Given the description of an element on the screen output the (x, y) to click on. 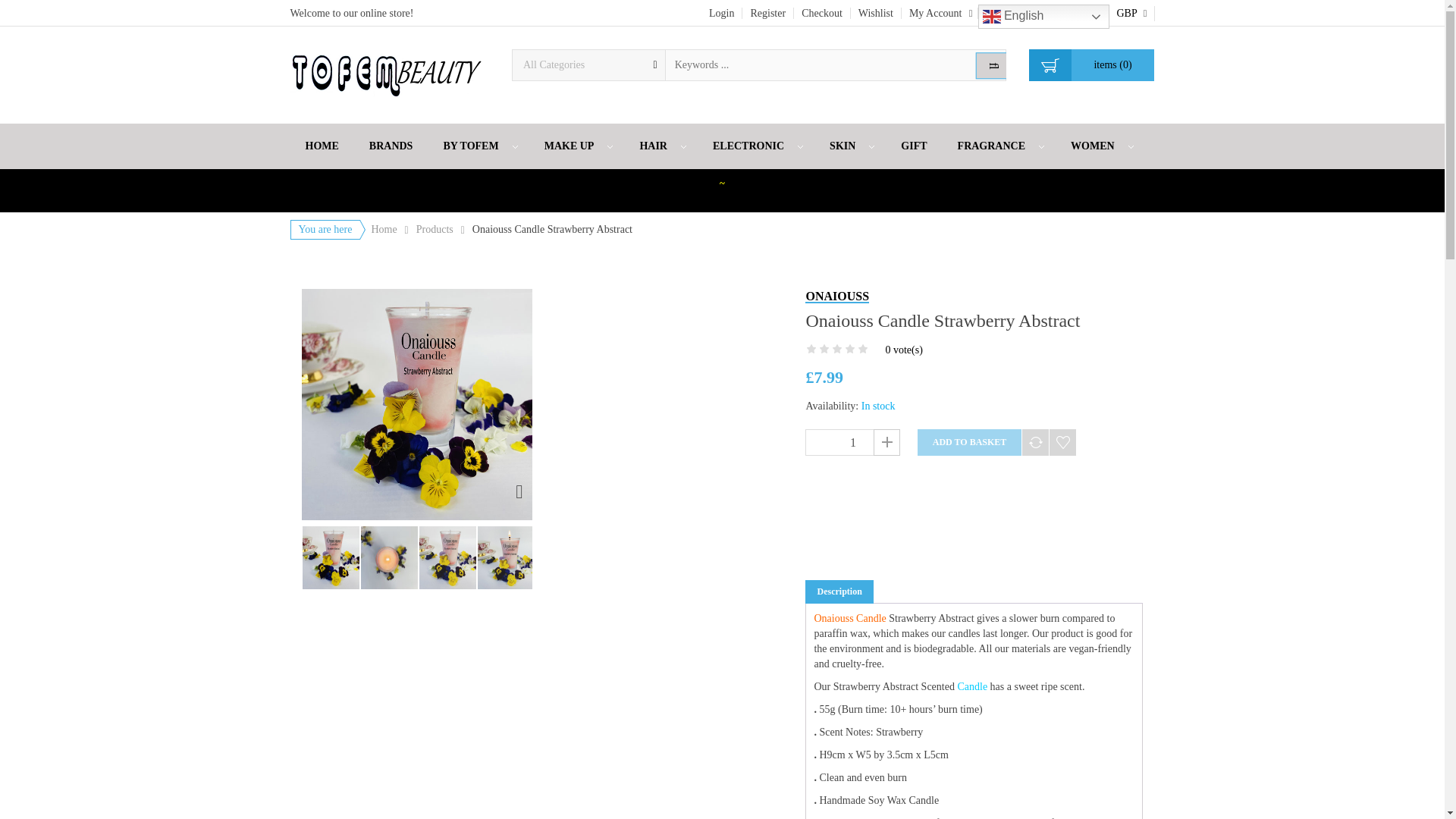
Wishlist (875, 13)
1 (852, 442)
My Account (939, 12)
- (818, 442)
Checkout (821, 13)
Wishlist Page (875, 13)
Login (721, 13)
GBP (1131, 12)
English (1043, 16)
Register (767, 13)
